Given the description of an element on the screen output the (x, y) to click on. 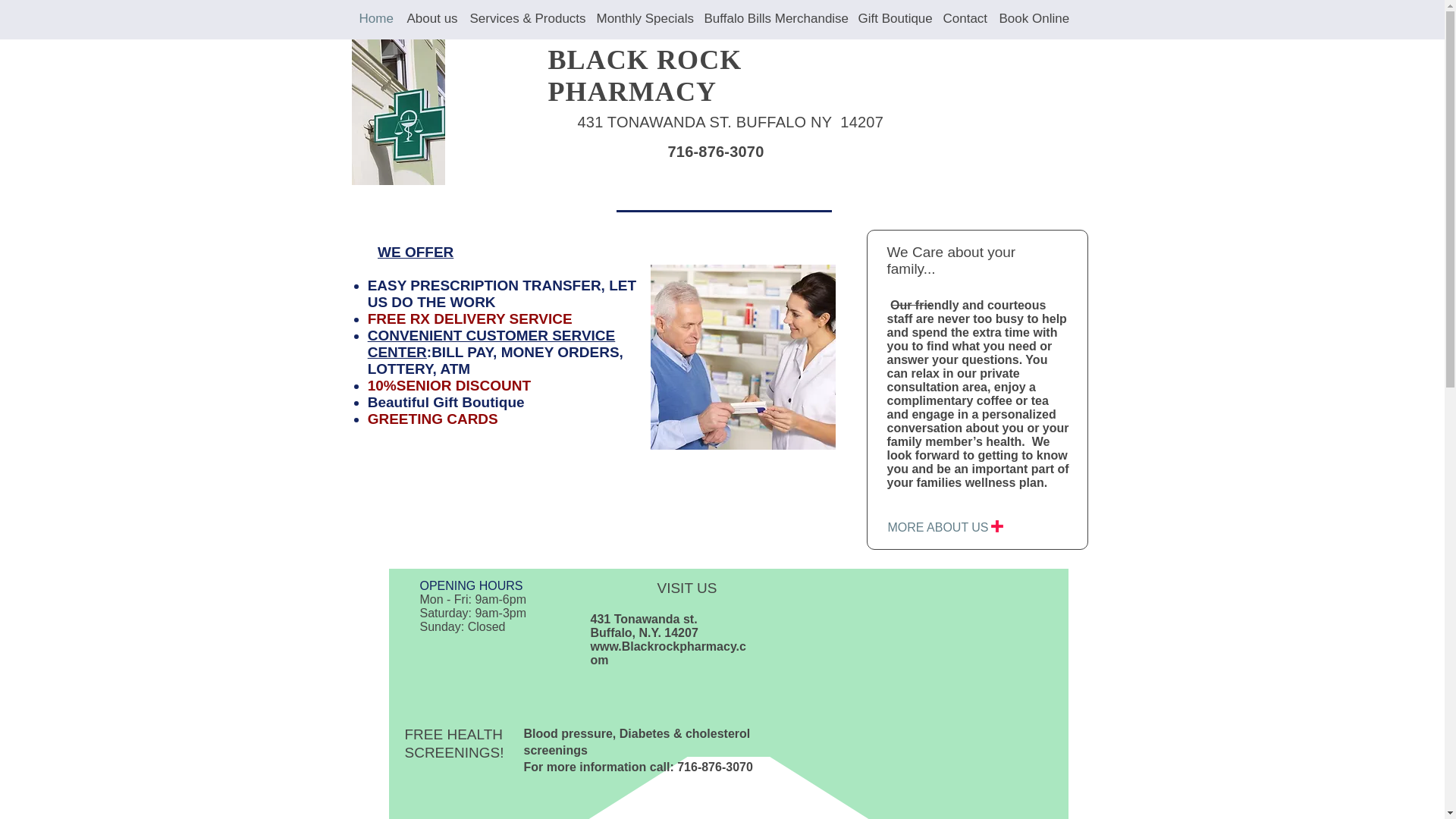
Buffalo Bills Merchandise (772, 18)
Contact (963, 18)
Gift Boutique (893, 18)
About us (429, 18)
Google Maps (953, 688)
www.Blackrockpharmacy.com (667, 652)
Book Online (1031, 18)
Monthly Specials (641, 18)
MORE ABOUT US (938, 528)
Home (375, 18)
